Given the description of an element on the screen output the (x, y) to click on. 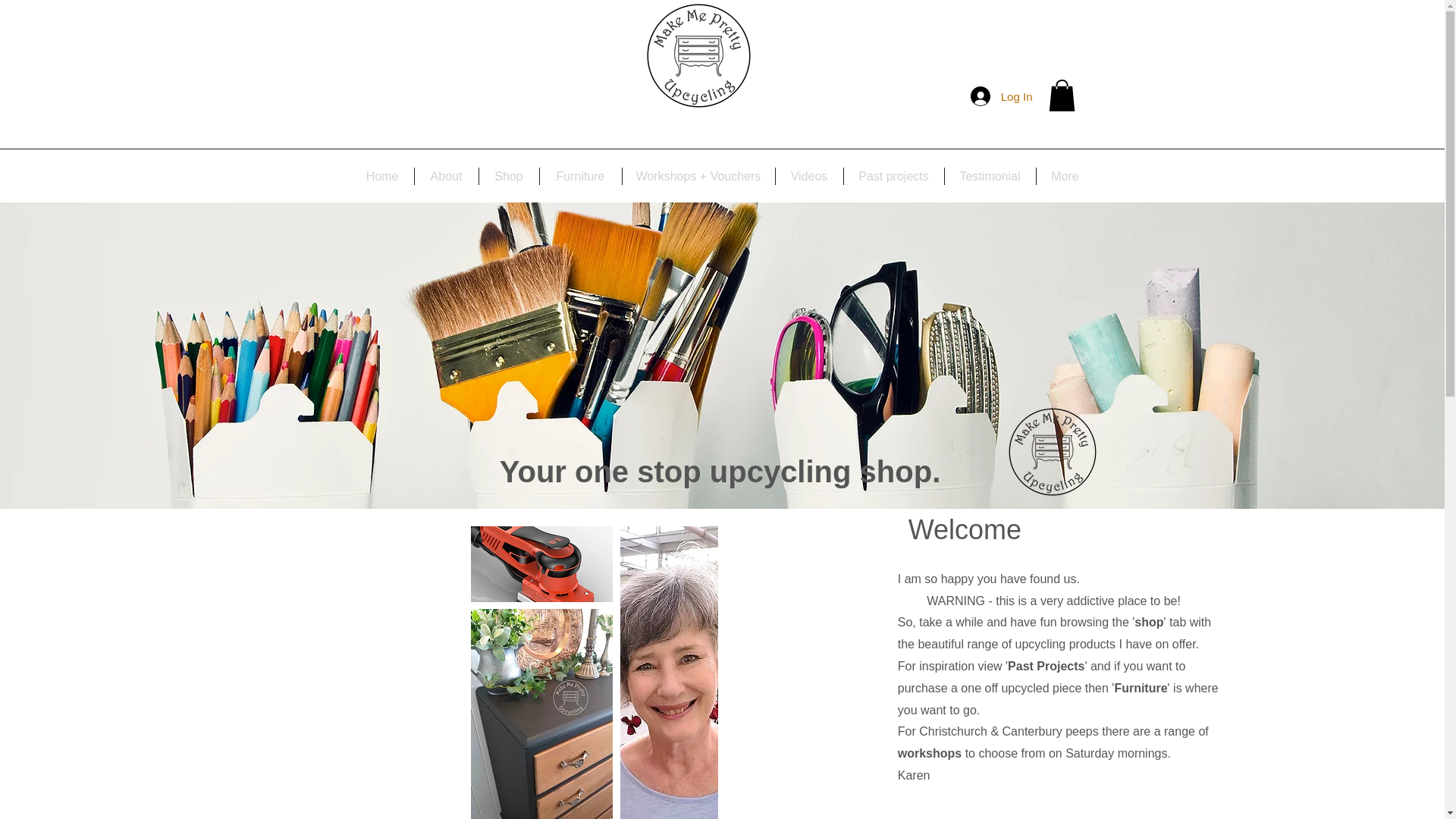
Furniture (580, 176)
Home (381, 176)
Testimonial (989, 176)
Shop (508, 176)
Past projects (893, 176)
Videos (808, 176)
Log In (1001, 95)
About (445, 176)
